Given the description of an element on the screen output the (x, y) to click on. 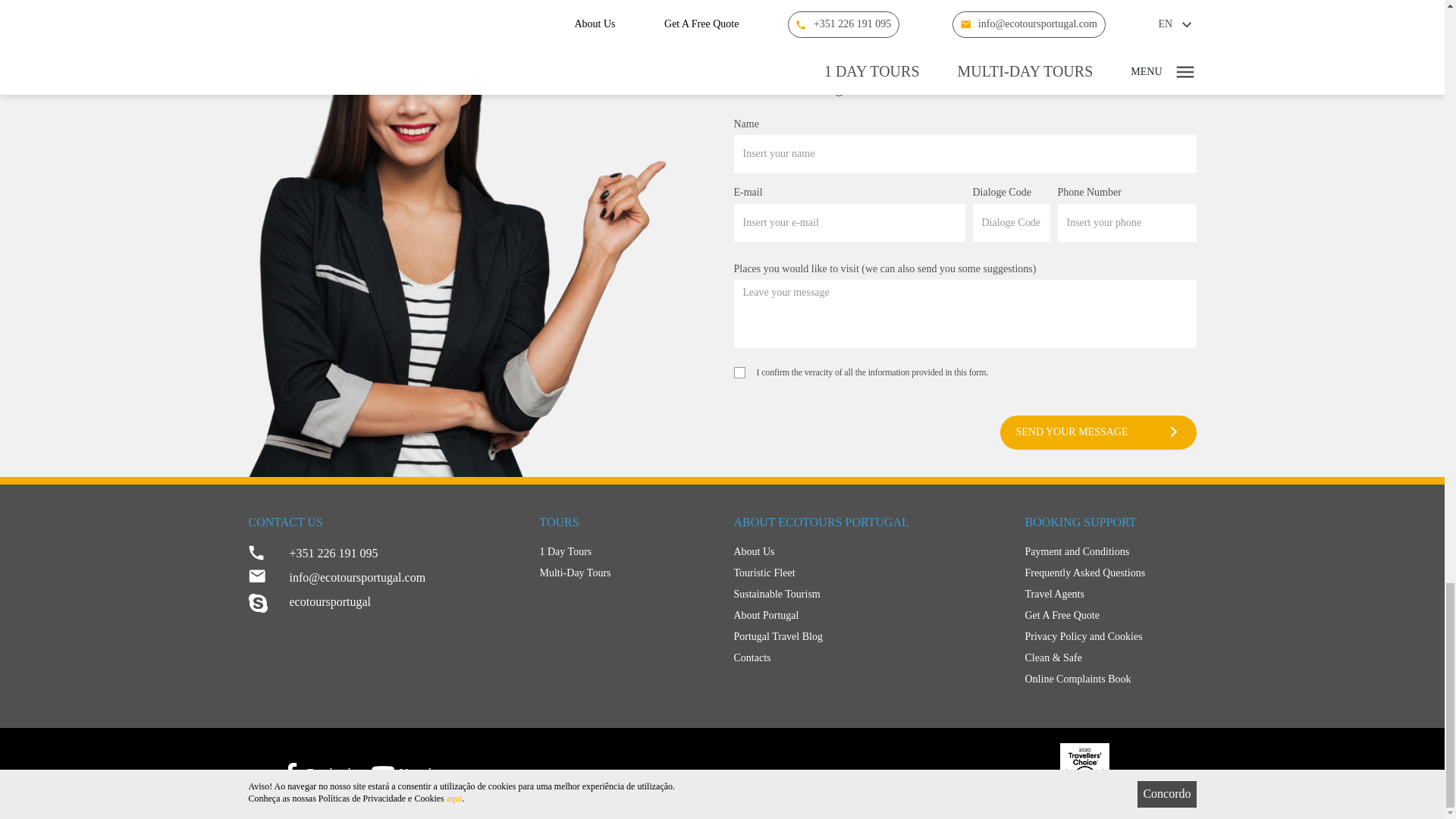
Payment and Conditions (1110, 551)
About Us (868, 551)
1 Day Tours (625, 551)
1 (739, 372)
Multi-Day Tours (625, 572)
Travel Agents (1110, 594)
Get A Free Quote (1110, 615)
Portugal Travel Blog (868, 636)
Privacy Policy and Cookies (1110, 636)
Touristic Fleet (868, 572)
Contacts (868, 658)
Online Complaints Book (1110, 679)
Sustainable Tourism (868, 594)
About Portugal (868, 615)
Frequently Asked Questions (1110, 572)
